Given the description of an element on the screen output the (x, y) to click on. 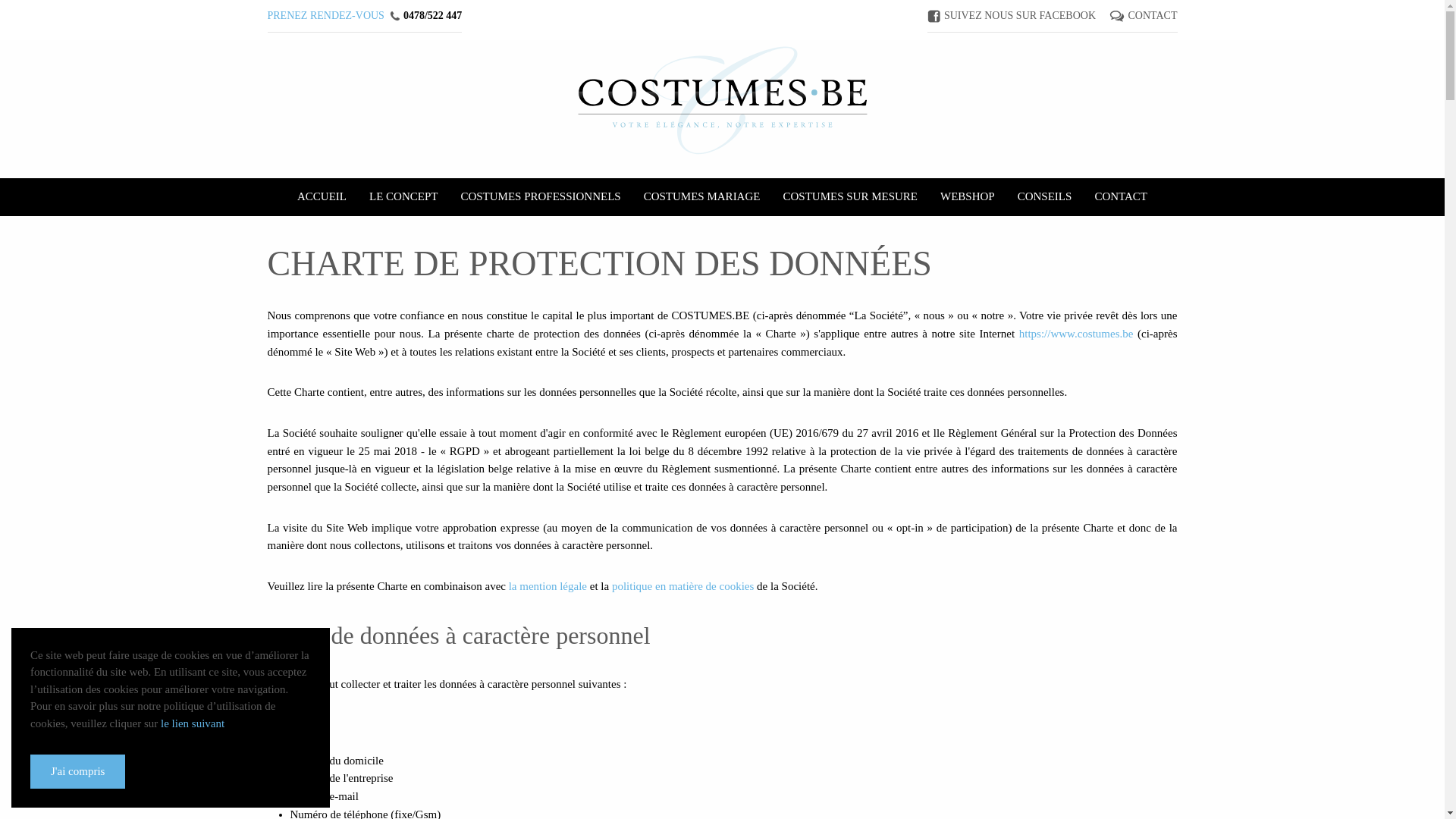
le lien suivant Element type: text (192, 723)
CONSEILS Element type: text (1044, 197)
COSTUMES PROFESSIONNELS Element type: text (539, 197)
PRENEZ RENDEZ-VOUS Element type: text (324, 15)
COSTUMES MARIAGE Element type: text (701, 197)
CONTACT Element type: text (1152, 15)
COSTUMES SUR MESURE Element type: text (849, 197)
SUIVEZ NOUS SUR FACEBOOK Element type: text (1019, 15)
LE CONCEPT Element type: text (402, 197)
CONTACT Element type: text (1120, 197)
https://www.costumes.be Element type: text (1076, 333)
J'ai compris Element type: text (77, 771)
WEBSHOP Element type: text (967, 197)
ACCUEIL Element type: text (321, 197)
